Given the description of an element on the screen output the (x, y) to click on. 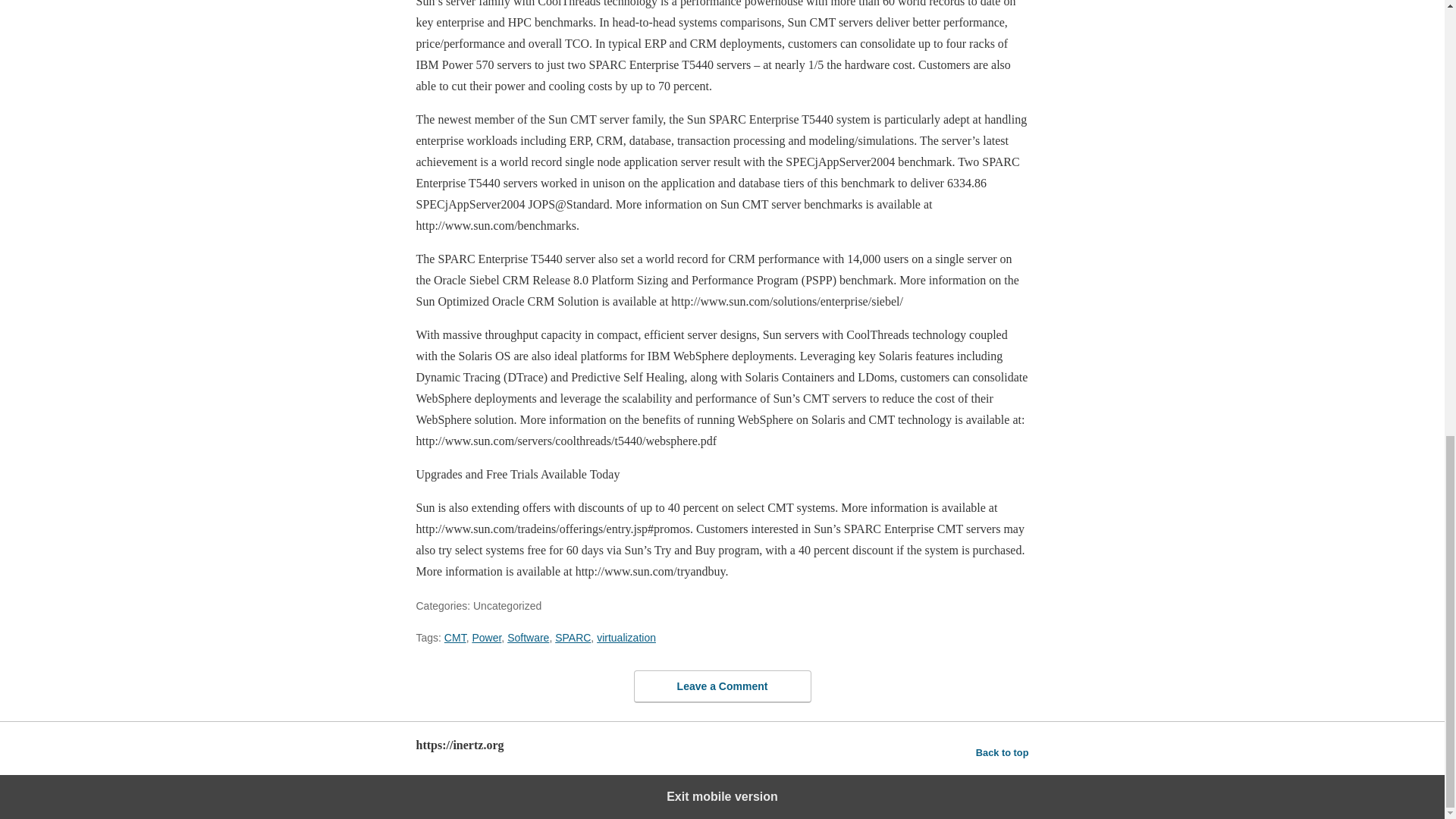
Power (485, 637)
Software (527, 637)
virtualization (626, 637)
Back to top (1002, 752)
Leave a Comment (721, 686)
CMT (454, 637)
SPARC (572, 637)
